Given the description of an element on the screen output the (x, y) to click on. 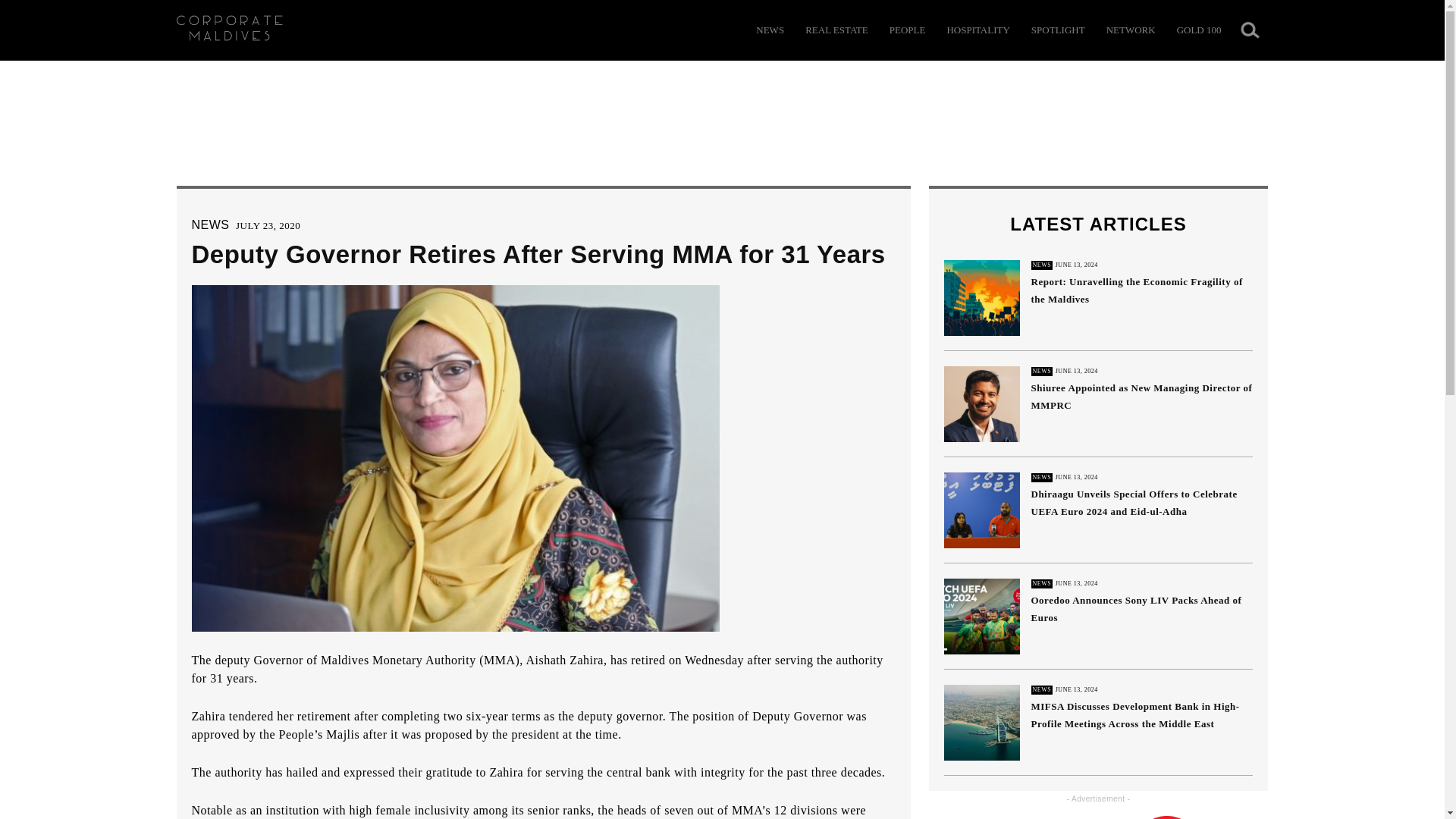
NETWORK (1131, 30)
GOLD 100 (1198, 30)
NEWS (769, 30)
NEWS (209, 224)
SPOTLIGHT (1057, 30)
PEOPLE (907, 30)
REAL ESTATE (836, 30)
HOSPITALITY (977, 30)
